Given the description of an element on the screen output the (x, y) to click on. 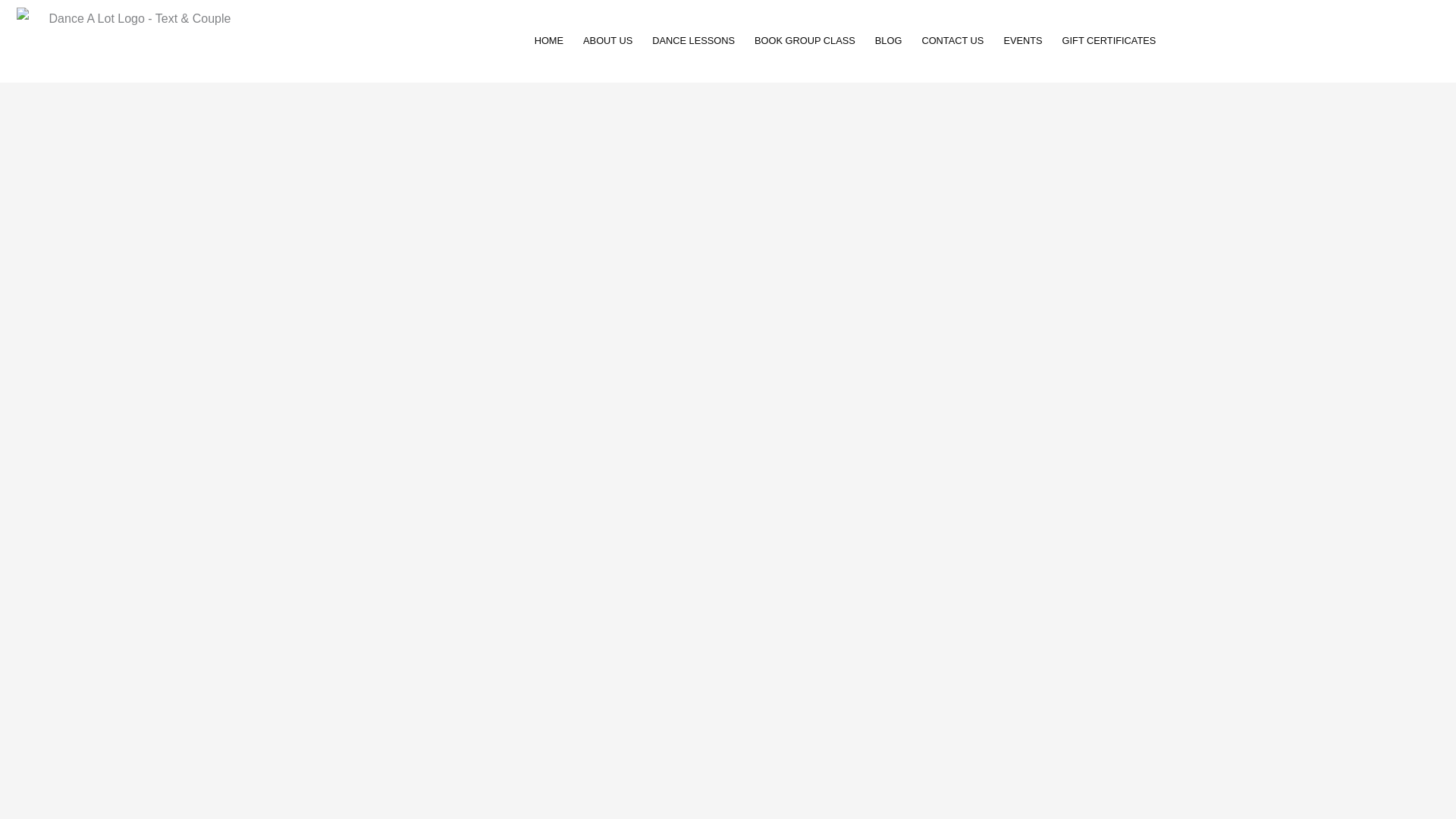
HOME (548, 40)
DANCE LESSONS (693, 40)
ABOUT US (607, 40)
CONTACT US (951, 40)
BOOK GROUP CLASS (804, 40)
EVENTS (1021, 40)
BLOG (888, 40)
GIFT CERTIFICATES (1109, 40)
